Given the description of an element on the screen output the (x, y) to click on. 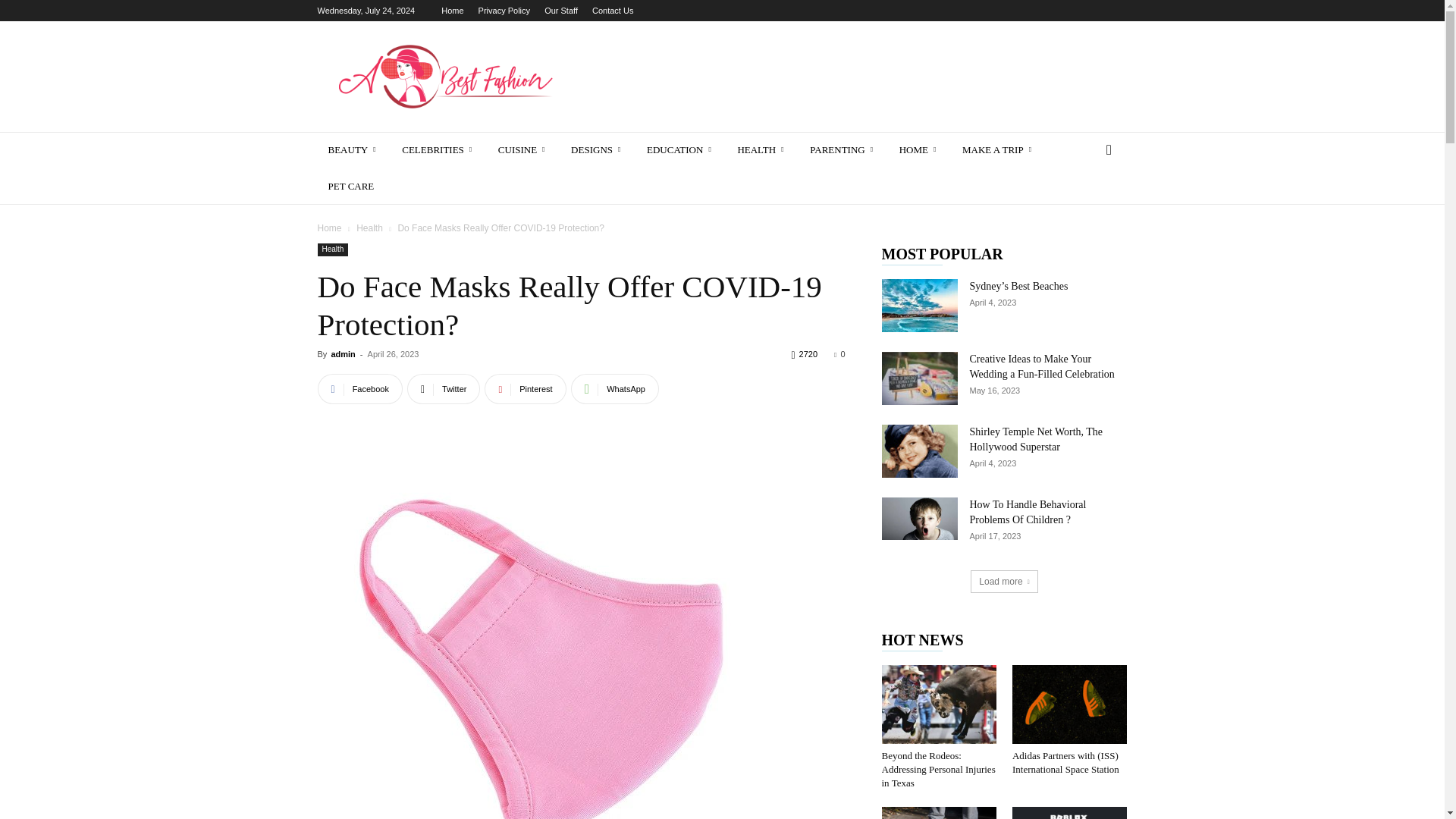
View all posts in Health (369, 227)
Pinterest (525, 388)
WhatsApp (614, 388)
Twitter (443, 388)
Advertisement (850, 76)
Facebook (359, 388)
